Given the description of an element on the screen output the (x, y) to click on. 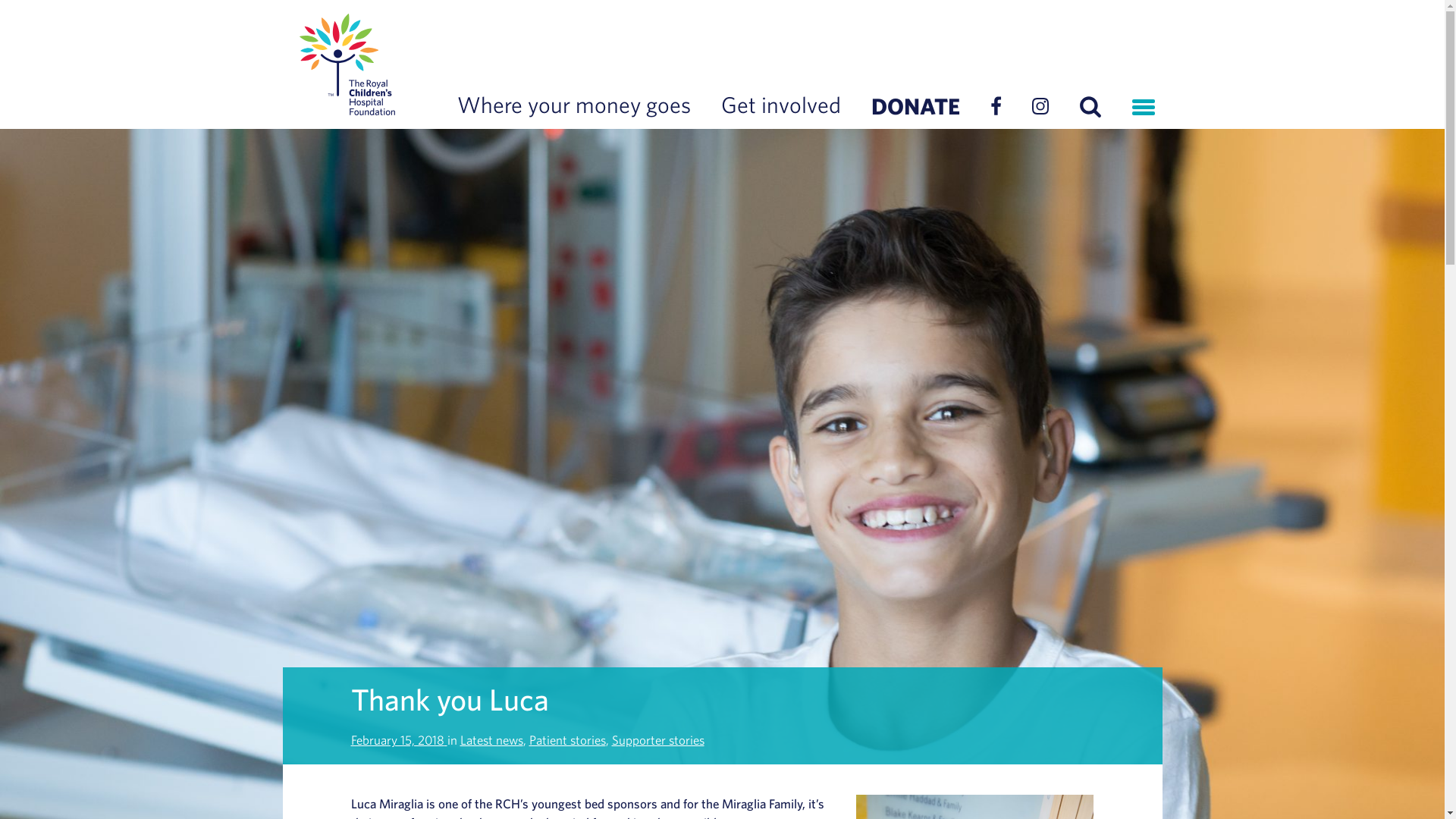
The Royal Children's Hospital Foundation (346, 64)
Where your money goes (573, 105)
Get involved (780, 105)
The Royal Children's Hospital Foundation (346, 64)
Instagram (1039, 108)
2:43 pm (398, 739)
